Given the description of an element on the screen output the (x, y) to click on. 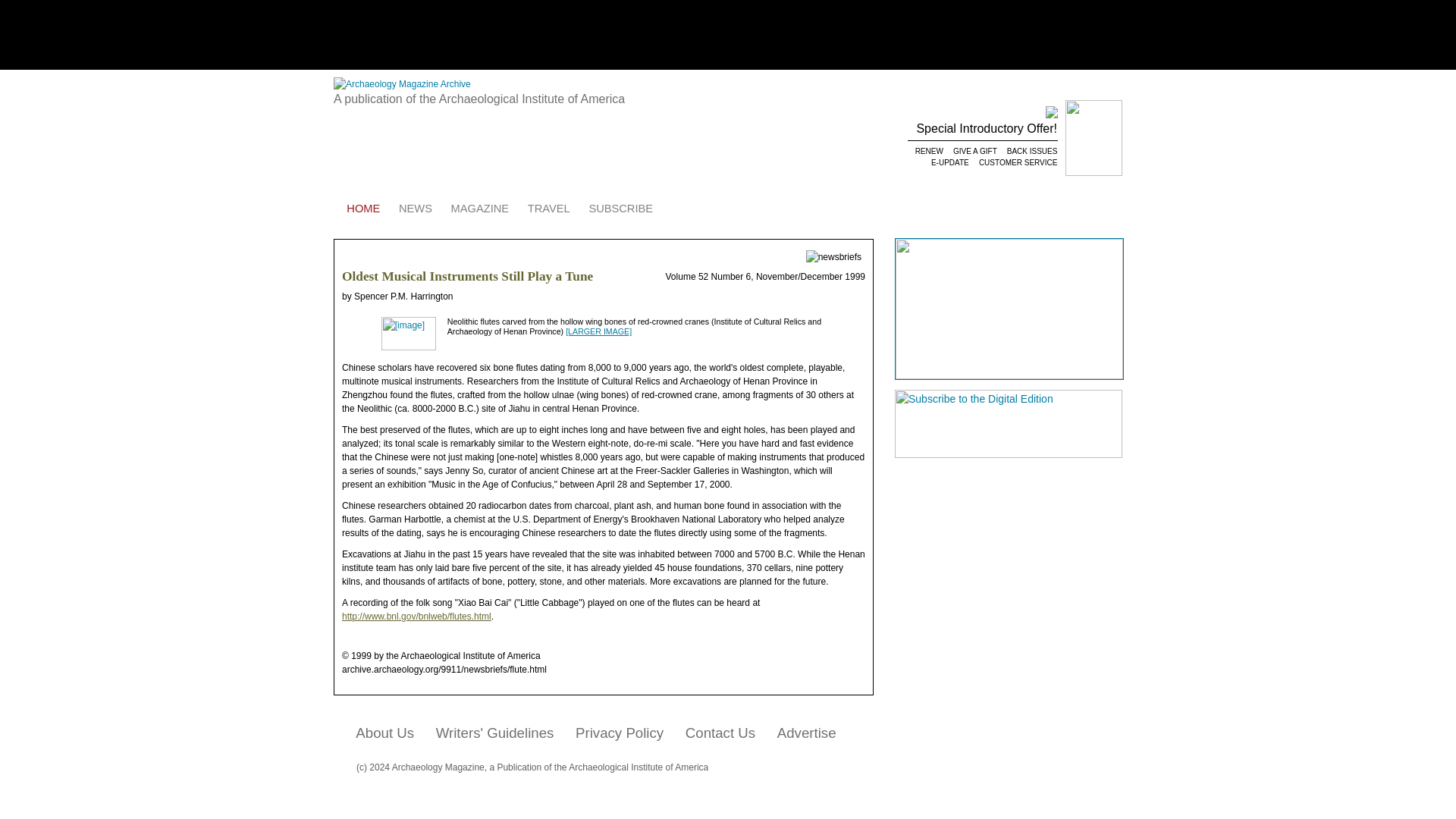
TRAVEL (548, 208)
SUBSCRIBE (620, 208)
E-UPDATE (949, 162)
RENEW (928, 151)
MAGAZINE (479, 208)
About Us (384, 732)
GIVE A GIFT (974, 151)
BACK ISSUES (1032, 151)
Privacy Policy (620, 732)
NEWS (415, 208)
